Given the description of an element on the screen output the (x, y) to click on. 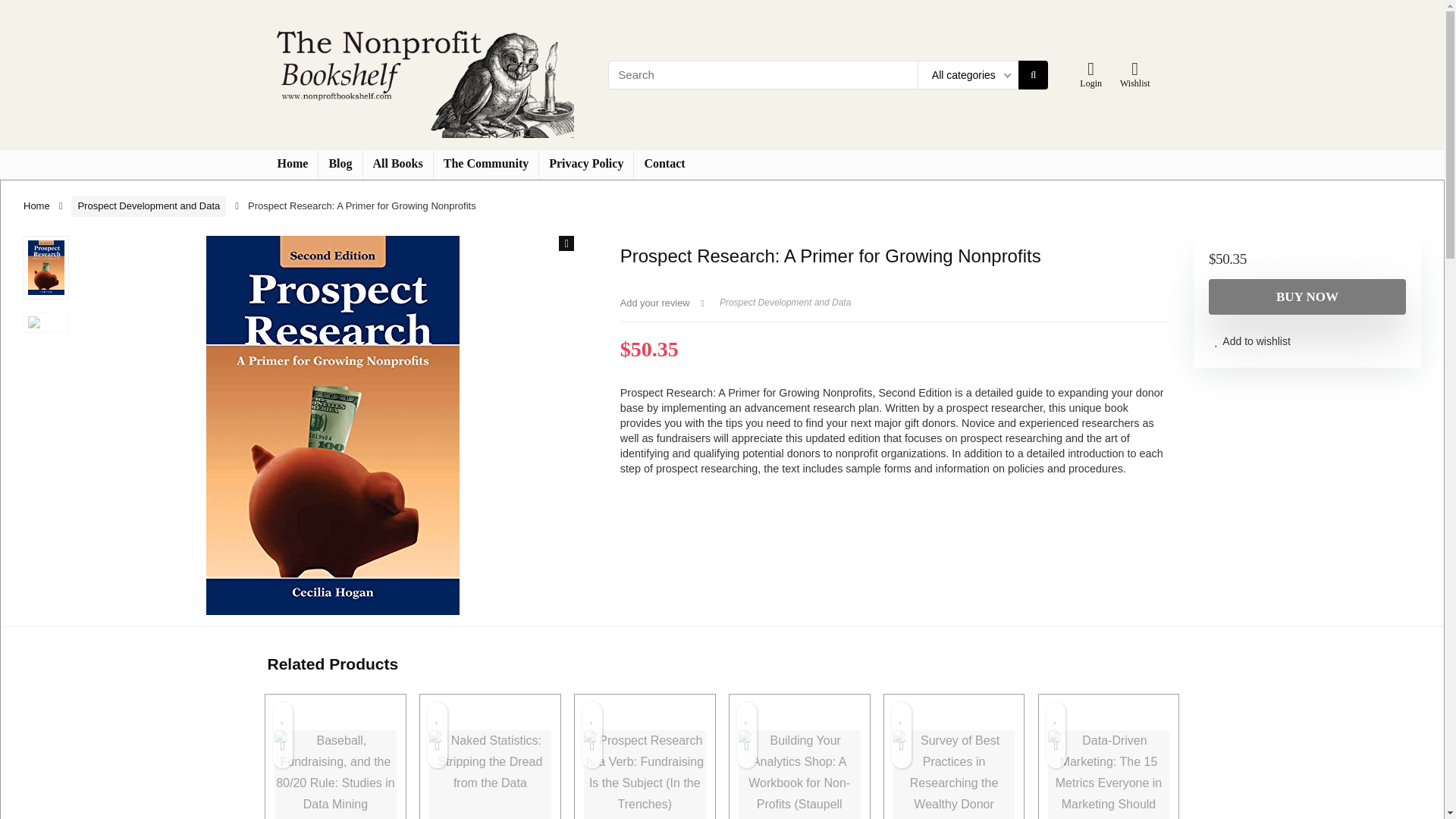
Contact (663, 164)
Add your review (655, 302)
BUY NOW (1307, 296)
View all posts in Prospect Development and Data (784, 302)
All Books (397, 164)
Privacy Policy (585, 164)
Prospect Development and Data (784, 302)
Home (291, 164)
Home (36, 205)
Prospect Development and Data (148, 206)
The Community (485, 164)
Blog (339, 164)
